Given the description of an element on the screen output the (x, y) to click on. 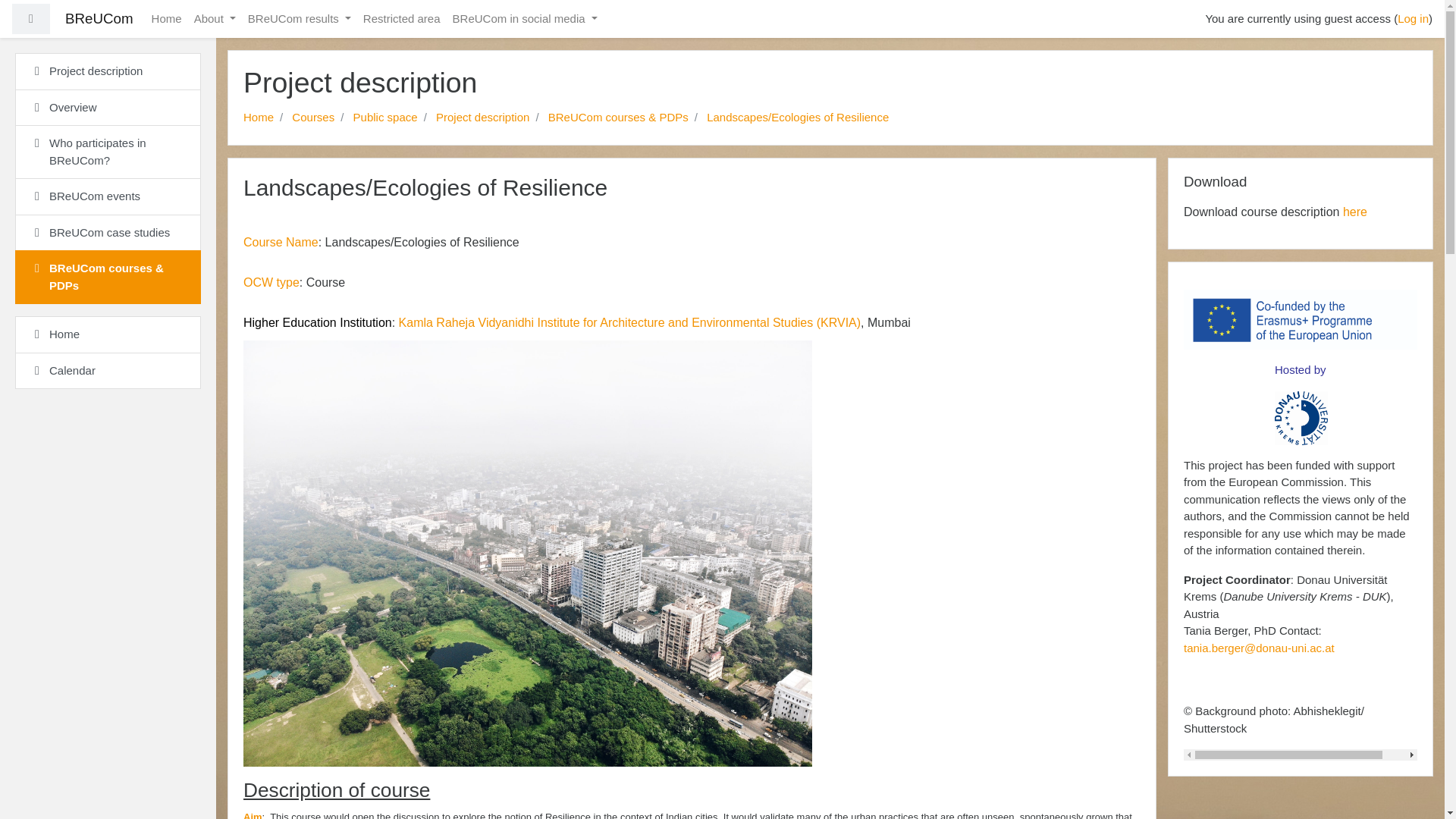
Side panel (30, 19)
Overview (107, 107)
Public space (385, 116)
Project description (482, 116)
Restricted area (401, 19)
BReUCom in social media (525, 19)
BReUCom results (298, 19)
Home (258, 116)
Project description (482, 116)
